Given the description of an element on the screen output the (x, y) to click on. 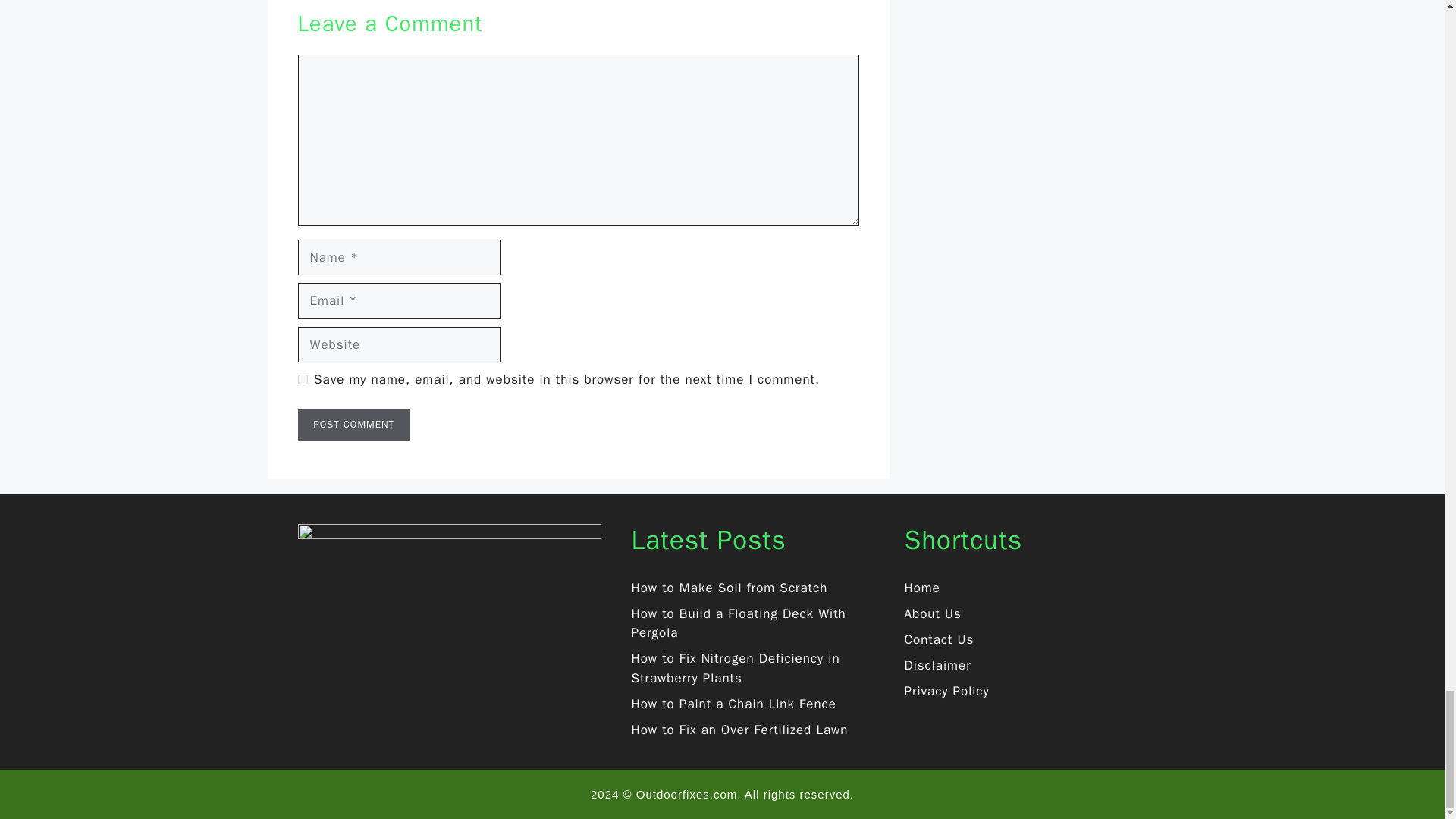
How to Paint a Chain Link Fence (732, 703)
About Us (932, 613)
How to Build a Floating Deck With Pergola (737, 623)
Home (921, 587)
Disclaimer (937, 665)
How to Make Soil from Scratch (728, 587)
Contact Us (939, 639)
How to Fix an Over Fertilized Lawn (738, 729)
Post Comment (353, 424)
Post Comment (353, 424)
How to Fix Nitrogen Deficiency in Strawberry Plants (735, 668)
yes (302, 379)
